Given the description of an element on the screen output the (x, y) to click on. 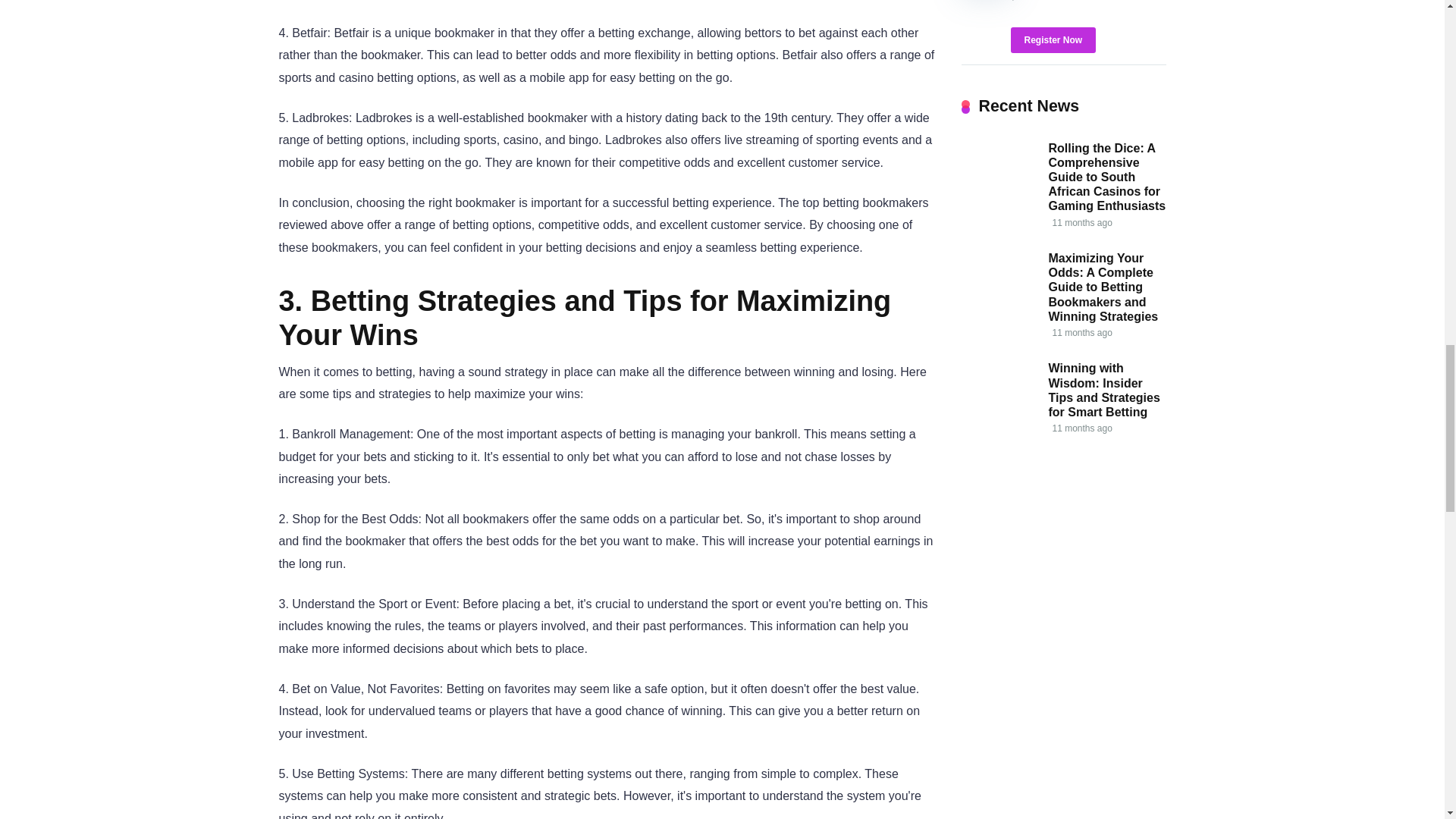
Register Now (1053, 40)
